Given the description of an element on the screen output the (x, y) to click on. 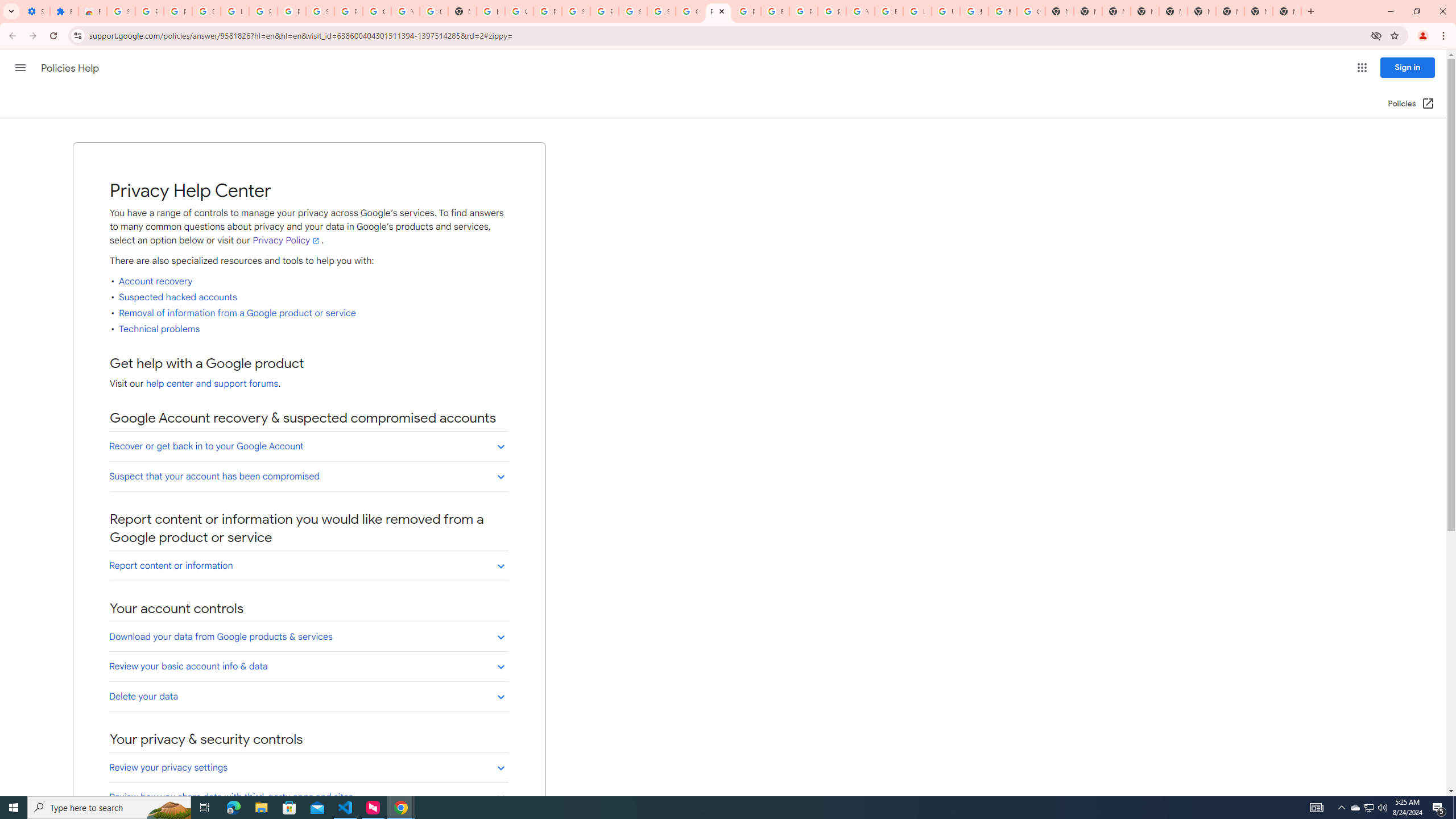
Delete your data (308, 696)
Reviews: Helix Fruit Jump Arcade Game (92, 11)
New Tab (1144, 11)
Suspected hacked accounts (178, 297)
Technical problems (159, 328)
Policies Help (70, 68)
